Given the description of an element on the screen output the (x, y) to click on. 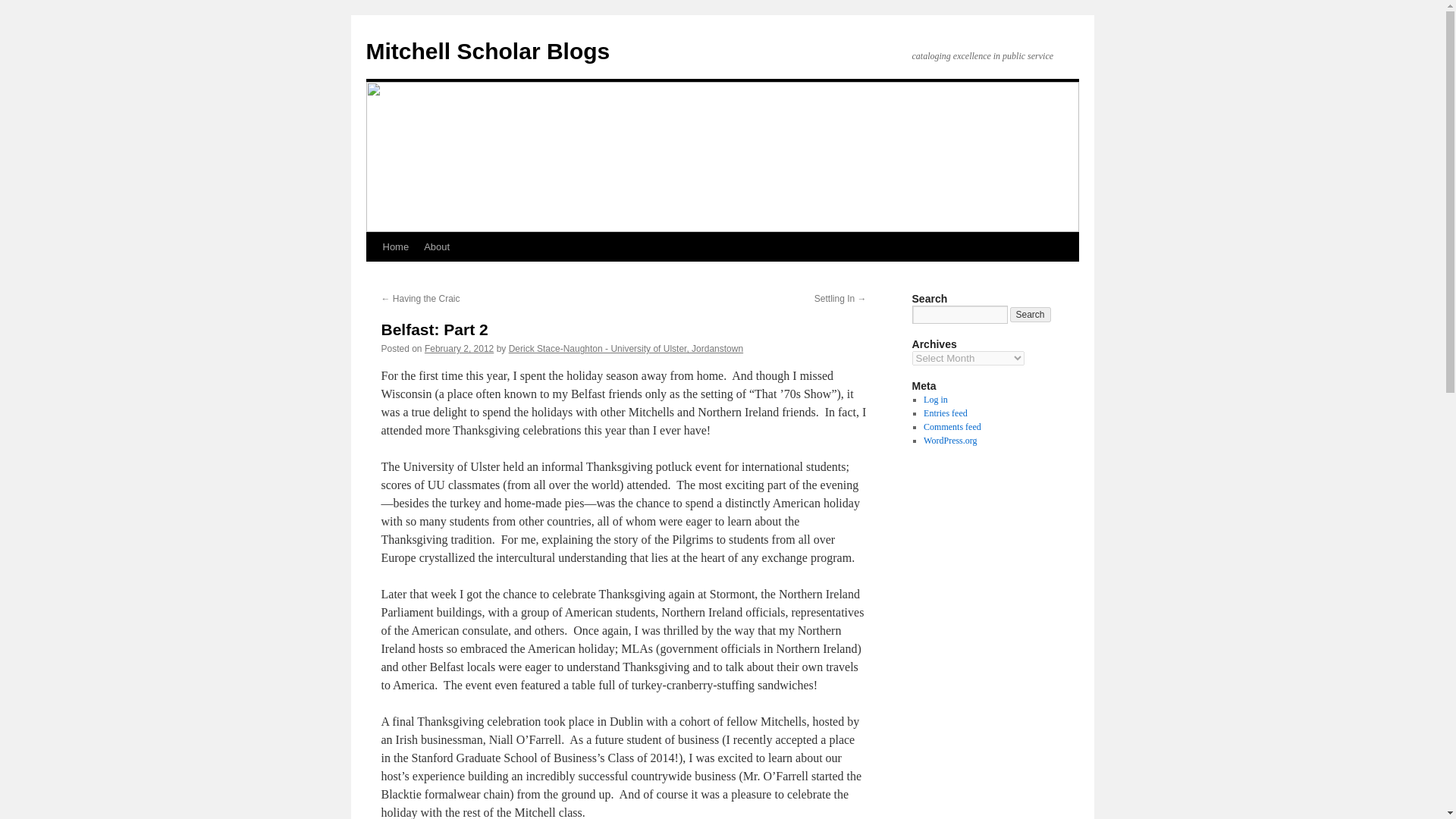
7:51 am (459, 348)
WordPress.org (949, 439)
Skip to content (372, 274)
Skip to content (372, 274)
Entries feed (945, 412)
Home (395, 246)
Log in (935, 398)
Comments feed (952, 426)
Derick Stace-Naughton - University of Ulster, Jordanstown (625, 348)
February 2, 2012 (459, 348)
Mitchell Scholar Blogs (487, 50)
Search (1030, 314)
Mitchell Scholar Blogs (487, 50)
Search (1030, 314)
